Given the description of an element on the screen output the (x, y) to click on. 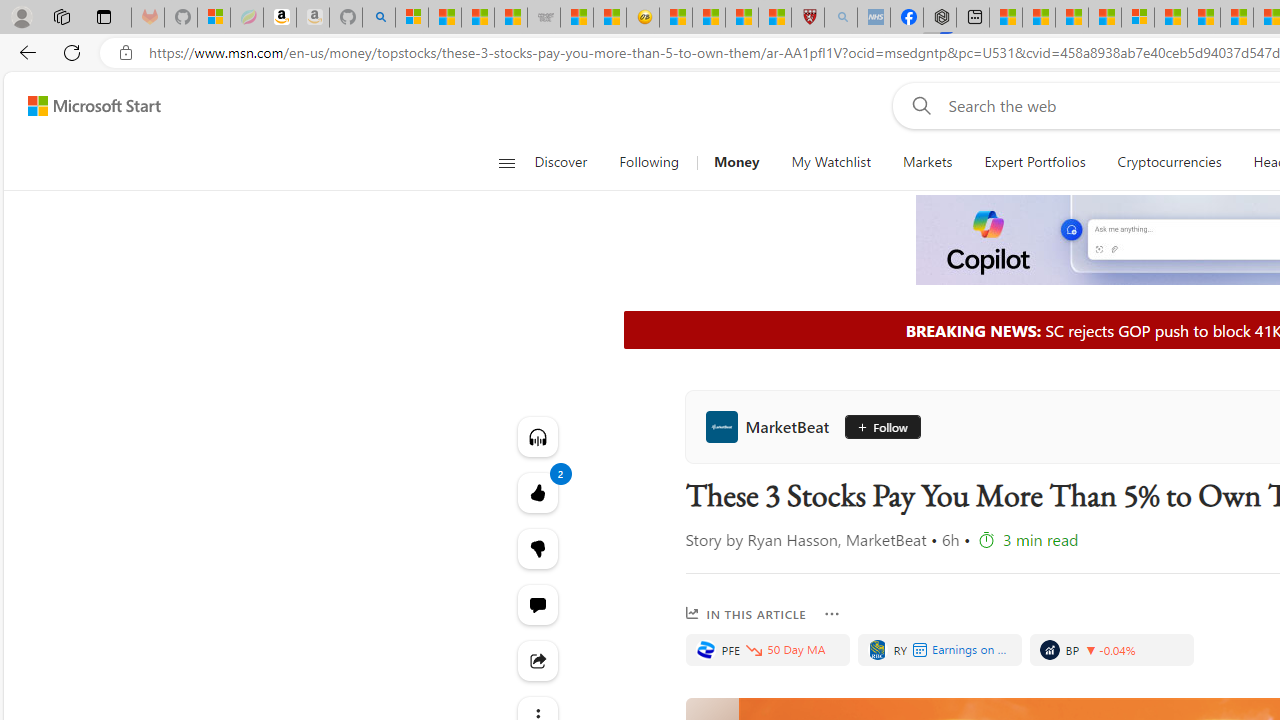
Cryptocurrencies (1169, 162)
Markets (927, 162)
Money (736, 162)
Class: button-glyph (505, 162)
Cryptocurrencies (1168, 162)
Price decrease (1090, 650)
Class: at-item (537, 660)
Expert Portfolios (1034, 162)
Stocks - MSN (511, 17)
